Given the description of an element on the screen output the (x, y) to click on. 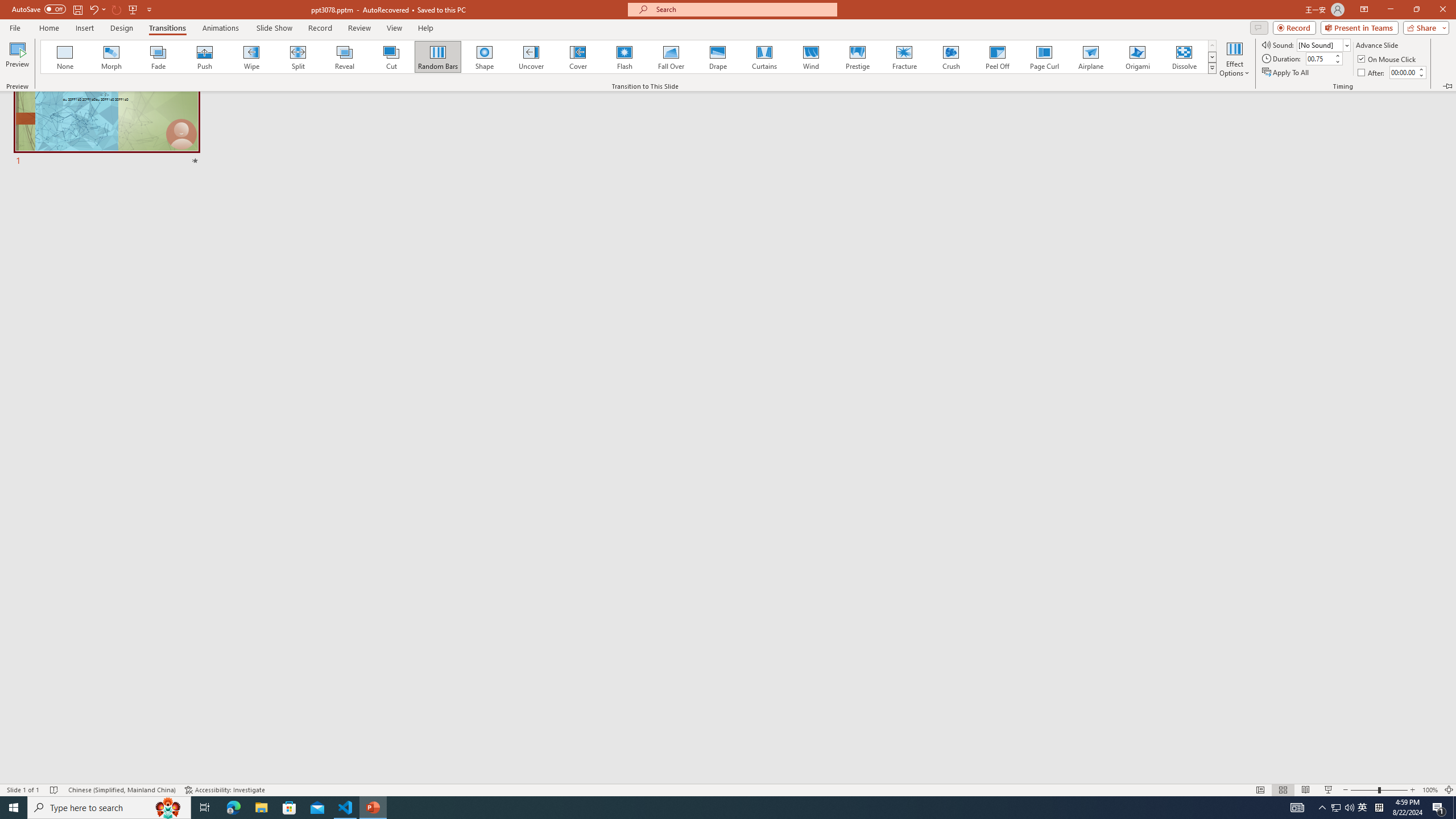
Action Center, 1 new notification (1439, 807)
